Given the description of an element on the screen output the (x, y) to click on. 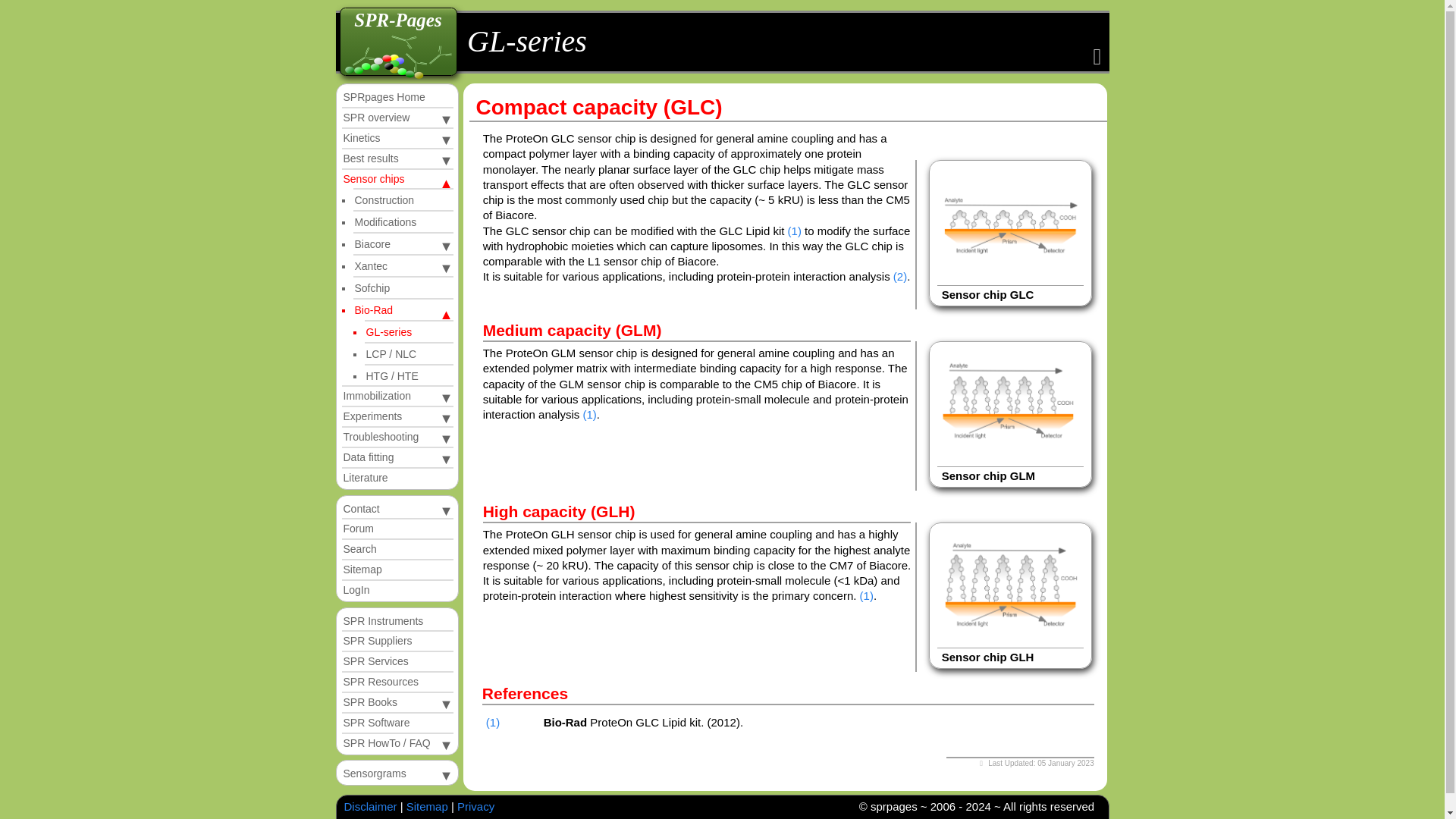
SPRpages Home (396, 97)
SPR overview (396, 117)
